Given the description of an element on the screen output the (x, y) to click on. 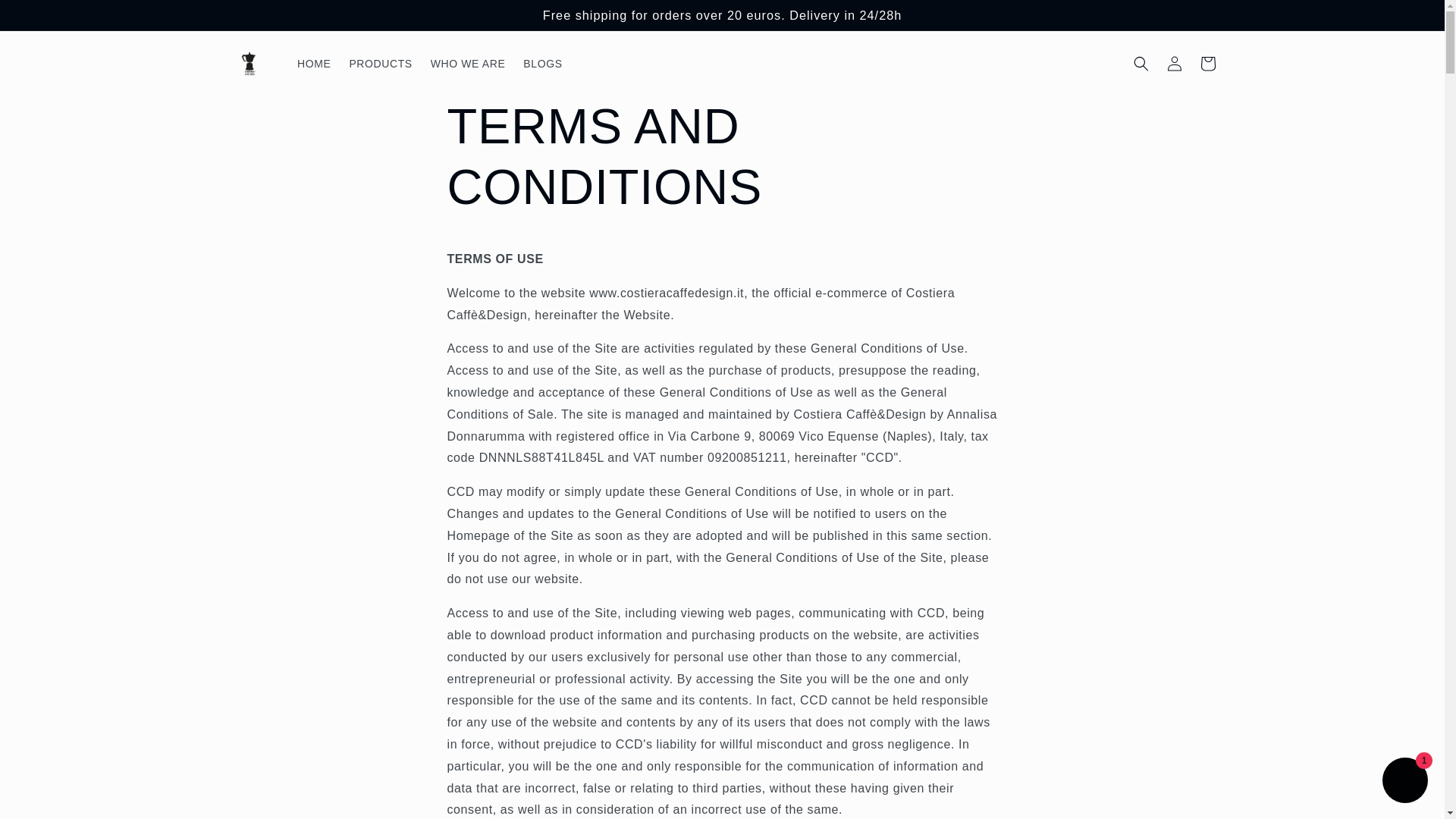
HOME (313, 63)
Shopify online store chat (1404, 781)
Log in (1174, 63)
BLOGS (541, 63)
Cart (1207, 63)
PRODUCTS (379, 63)
WHO WE ARE (468, 63)
Skip to content (45, 17)
